Given the description of an element on the screen output the (x, y) to click on. 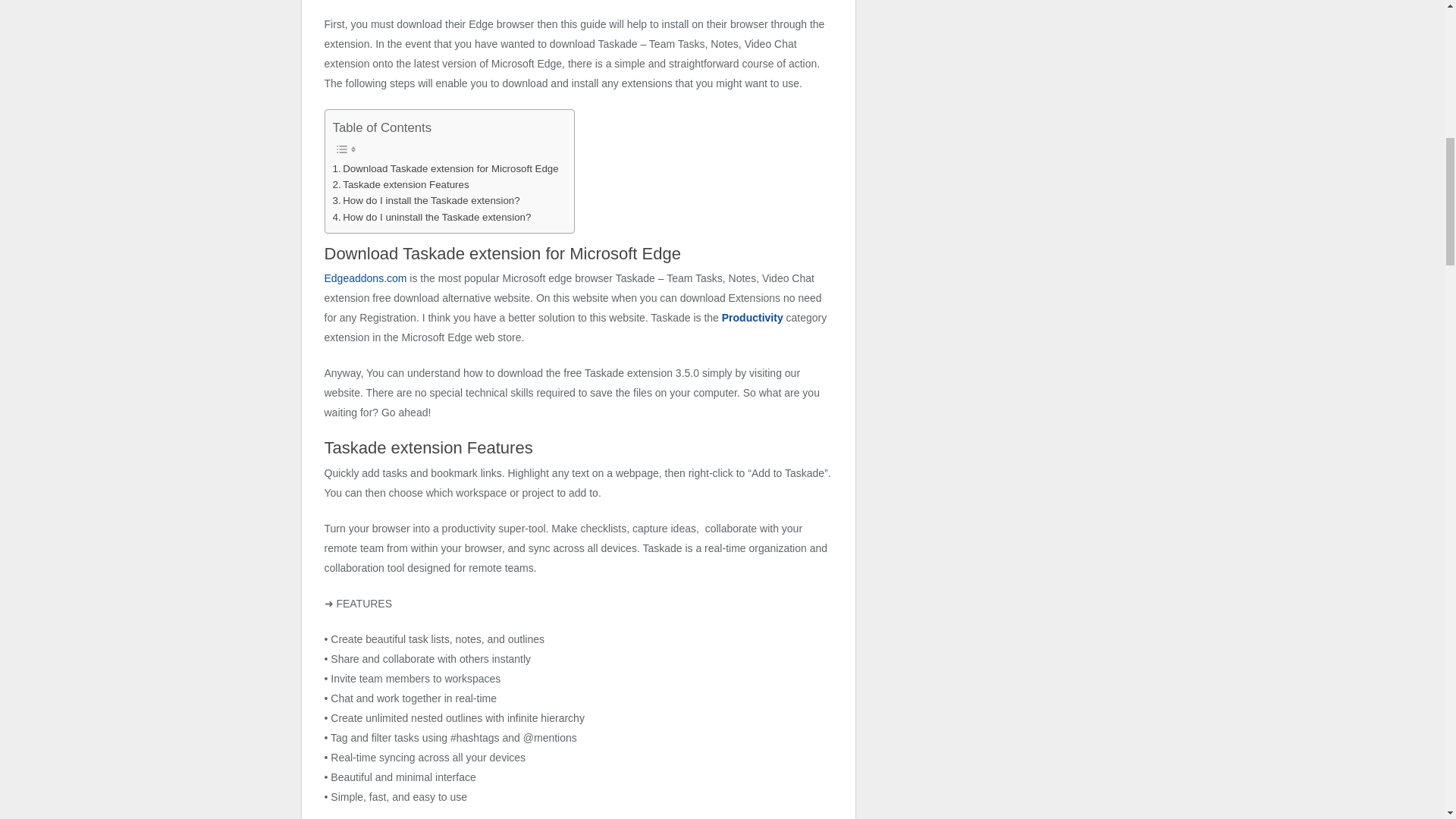
How do I install the Taskade extension? (425, 200)
How do I install the Taskade extension? (425, 200)
How do I uninstall the Taskade extension? (431, 217)
Taskade extension Features (399, 184)
Productivity (752, 317)
Edgeaddons.com (365, 277)
Productivity (752, 317)
Download Taskade extension for Microsoft Edge (444, 168)
How do I uninstall the Taskade extension? (431, 217)
Taskade extension Features (399, 184)
Download Taskade extension for Microsoft Edge (444, 168)
